Given the description of an element on the screen output the (x, y) to click on. 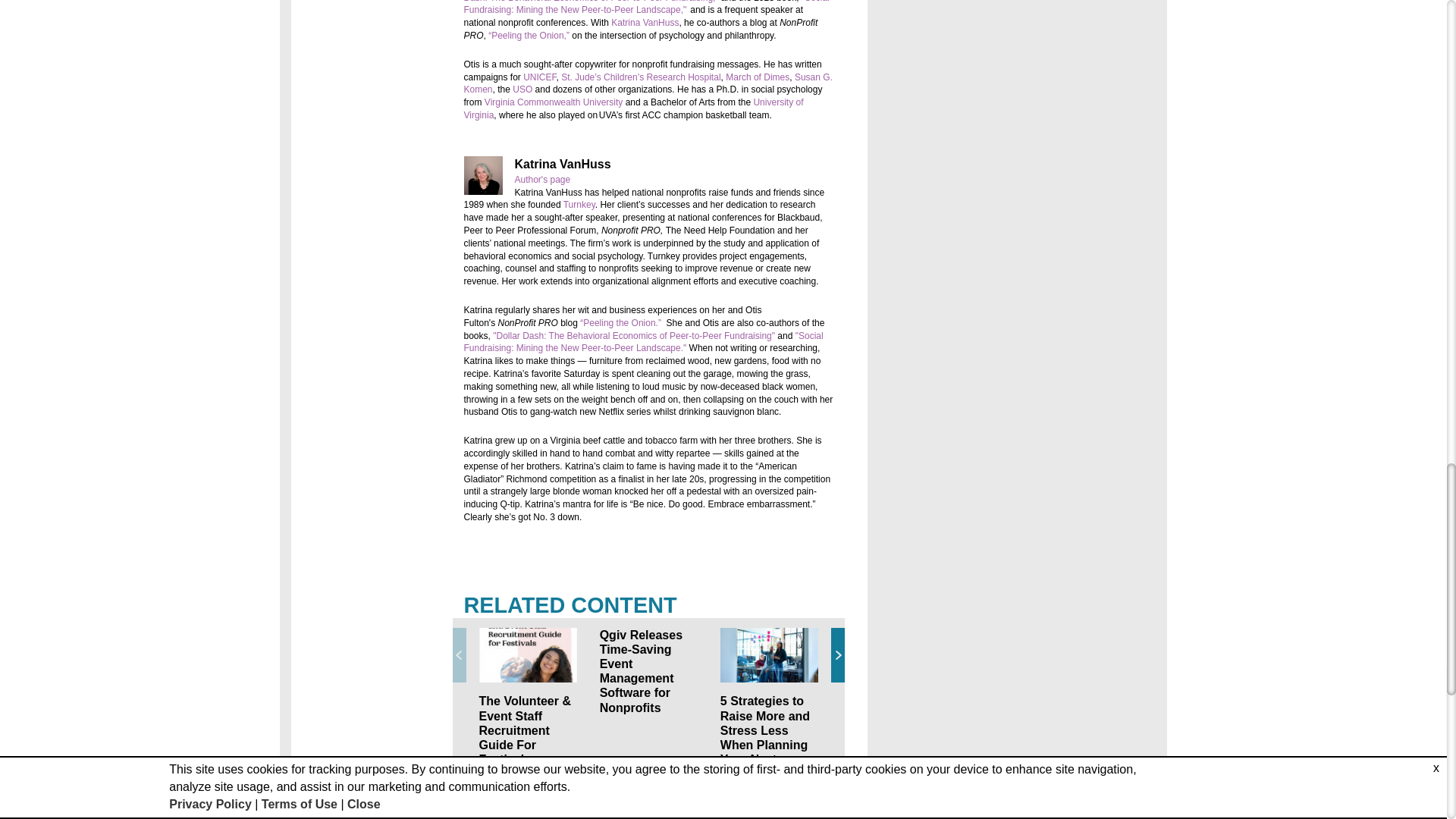
Opens in a new window (646, 7)
